Given the description of an element on the screen output the (x, y) to click on. 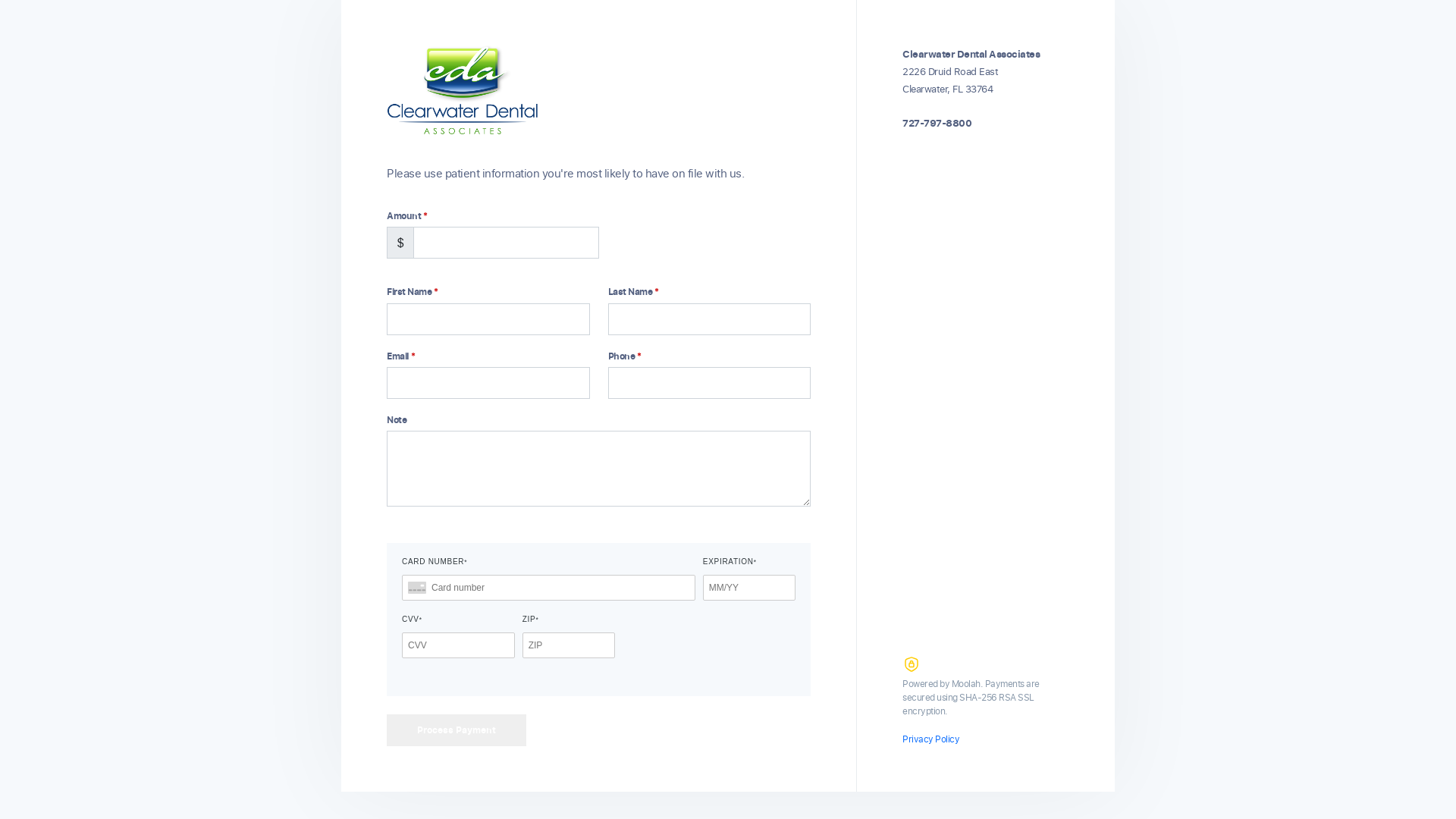
Privacy Policy Element type: text (930, 738)
Process Payment Element type: text (456, 730)
